Given the description of an element on the screen output the (x, y) to click on. 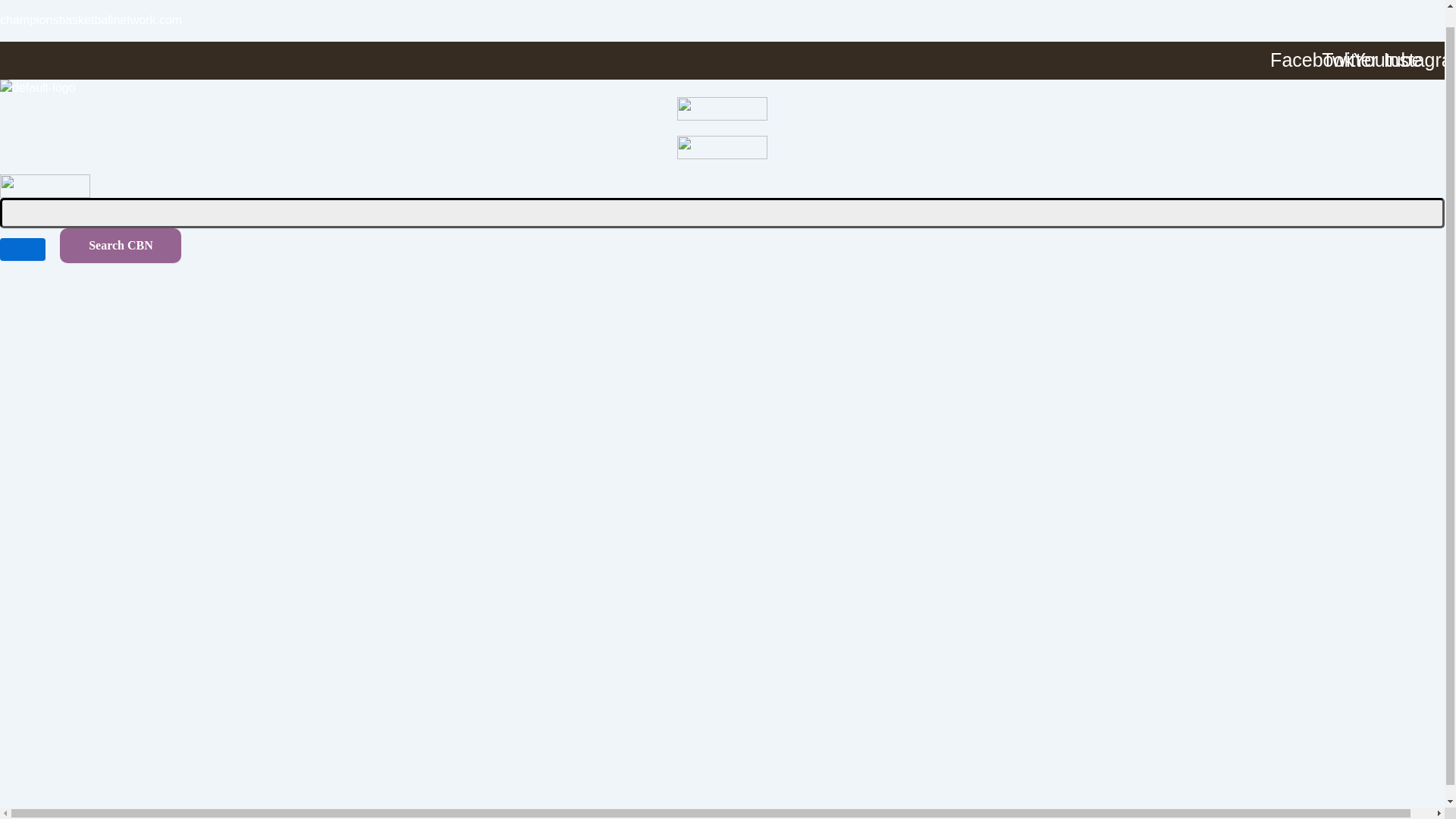
Instagram (1425, 60)
Facebook (1311, 60)
championsbasketballnetwork.com (91, 19)
championsbasketballnetwork.com (91, 19)
Youtube (1387, 60)
Twitter (1349, 60)
Search (722, 213)
